Given the description of an element on the screen output the (x, y) to click on. 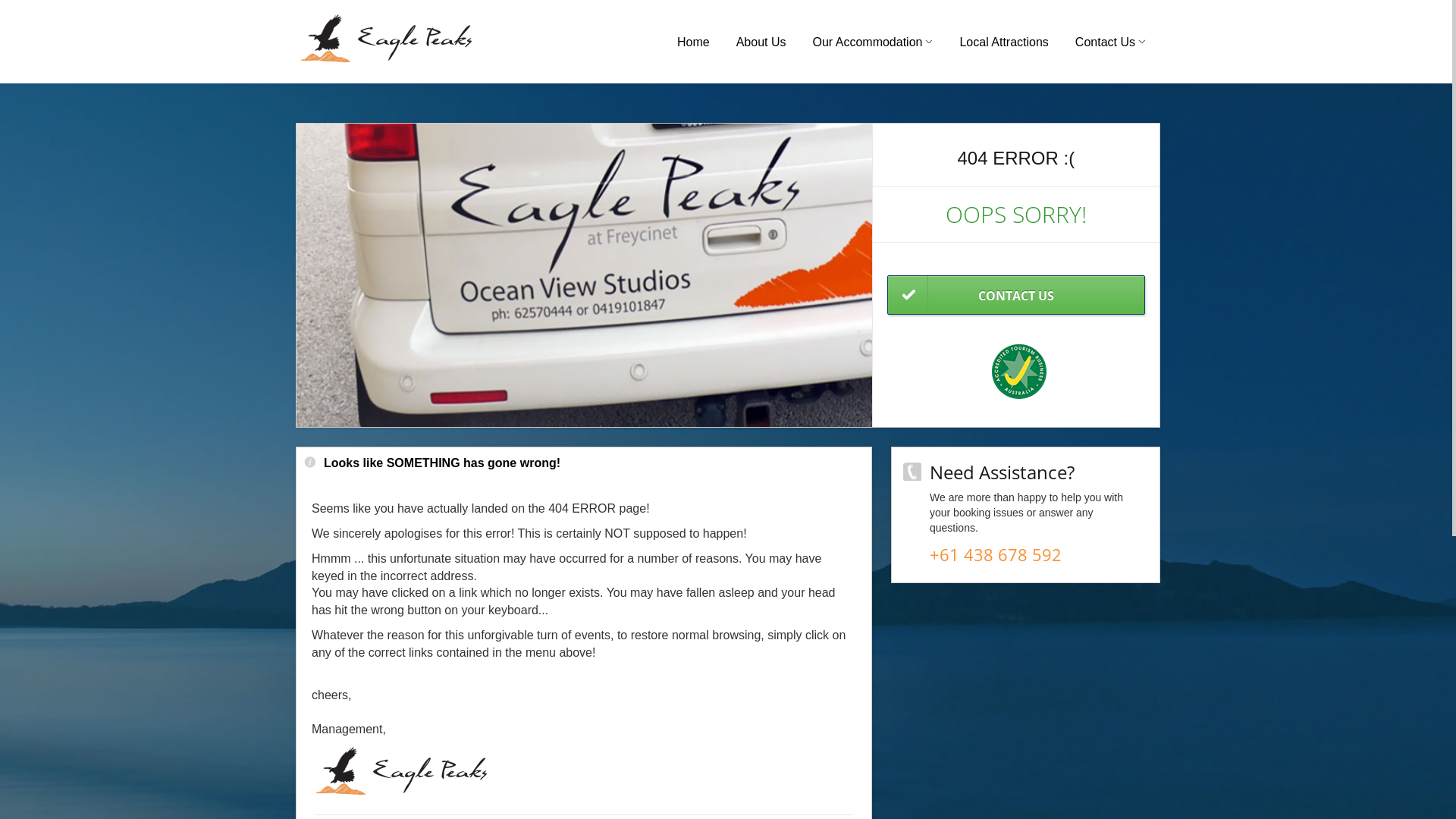
Contact Us Element type: text (1109, 42)
Our Accommodation Element type: text (870, 42)
Local Attractions Element type: text (1001, 42)
Home Element type: text (691, 42)
Looks like SOMETHING has gone wrong! Element type: text (431, 463)
CONTACT US Element type: text (1016, 294)
About Us Element type: text (759, 42)
